Given the description of an element on the screen output the (x, y) to click on. 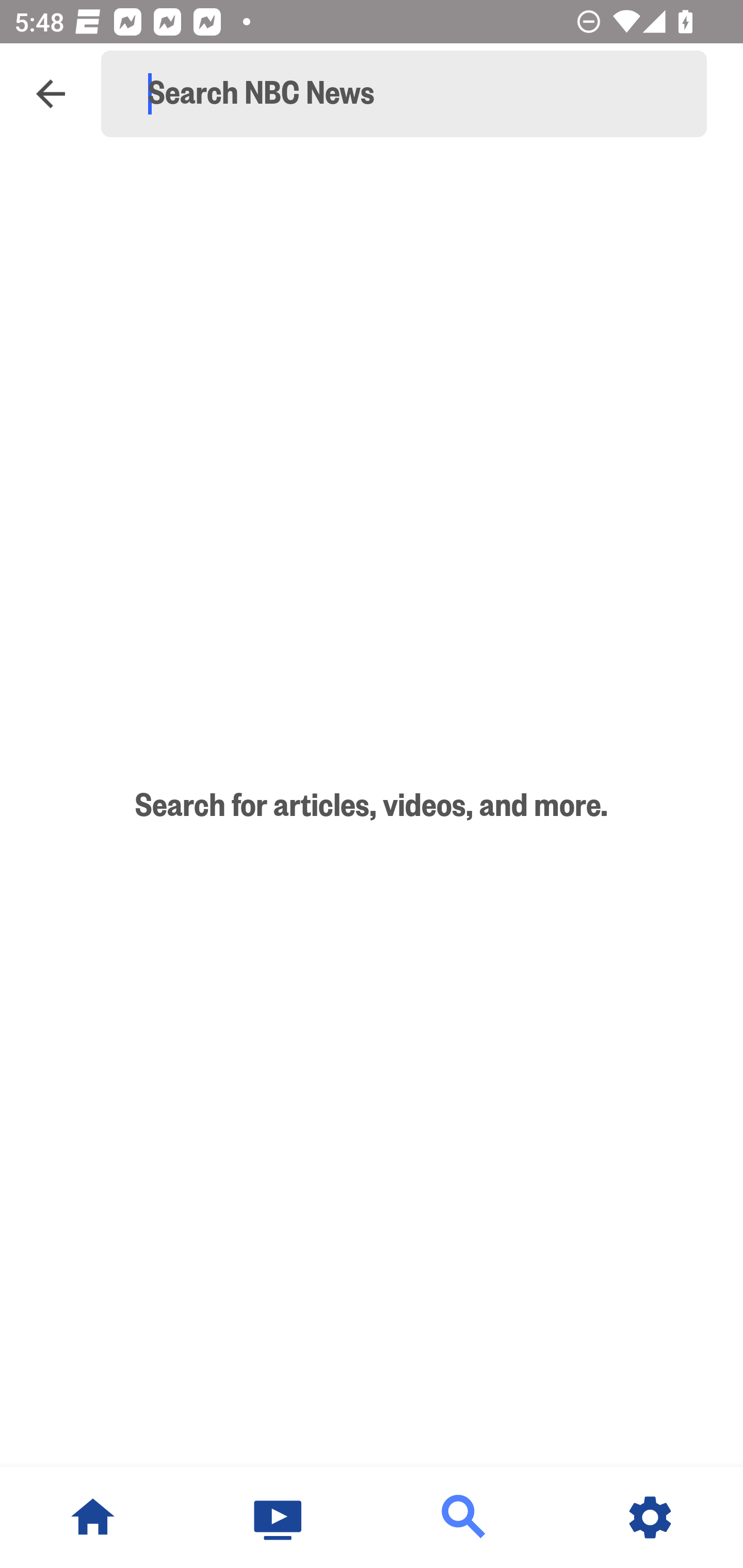
Navigate up (50, 93)
Search NBC News (412, 94)
NBC News Home (92, 1517)
Watch (278, 1517)
Settings (650, 1517)
